Given the description of an element on the screen output the (x, y) to click on. 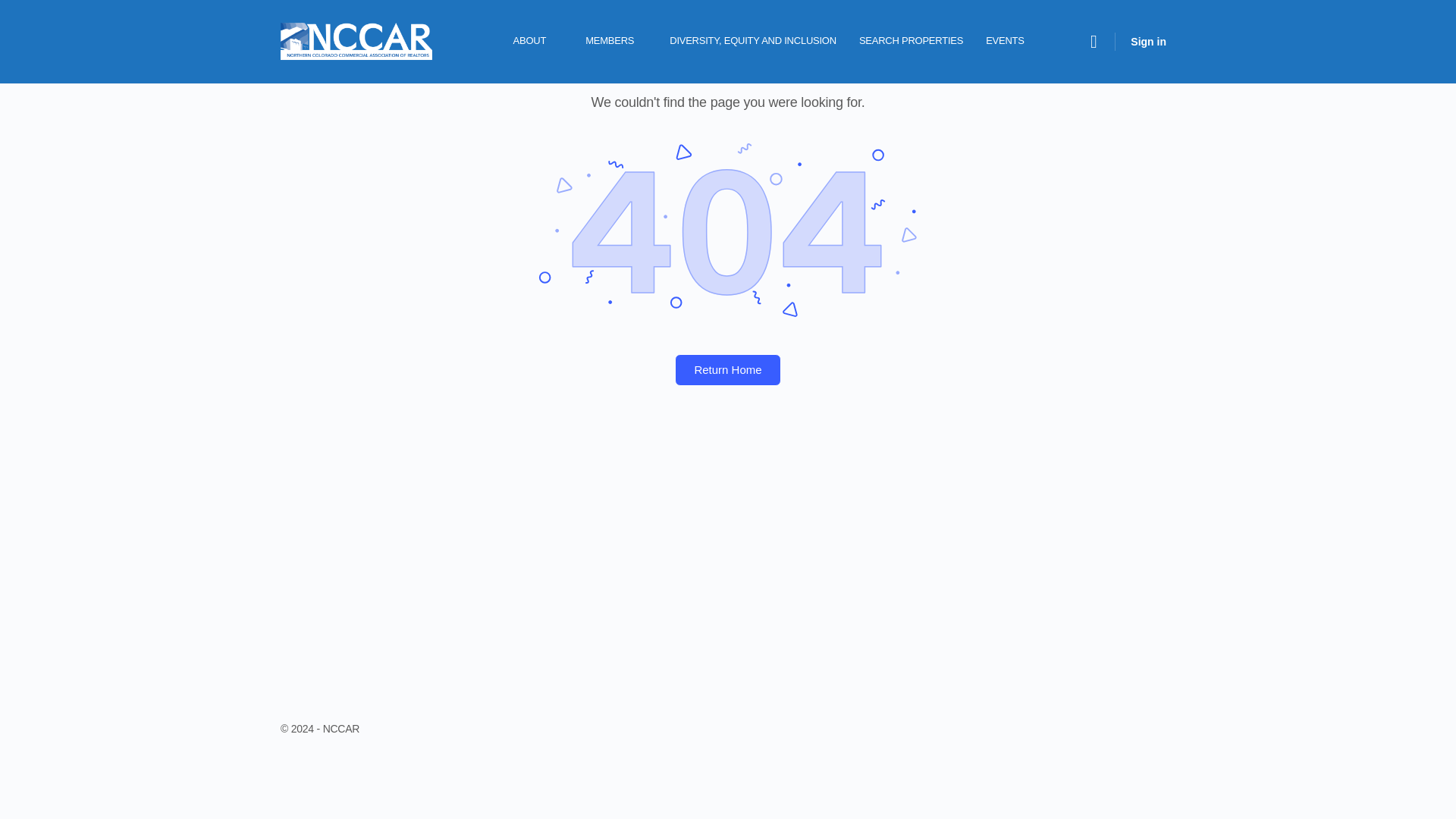
DIVERSITY, EQUITY AND INCLUSION (753, 41)
ABOUT (536, 41)
Sign in (1147, 41)
EVENTS (1005, 41)
MEMBERS (615, 41)
SEARCH PROPERTIES (911, 41)
